Given the description of an element on the screen output the (x, y) to click on. 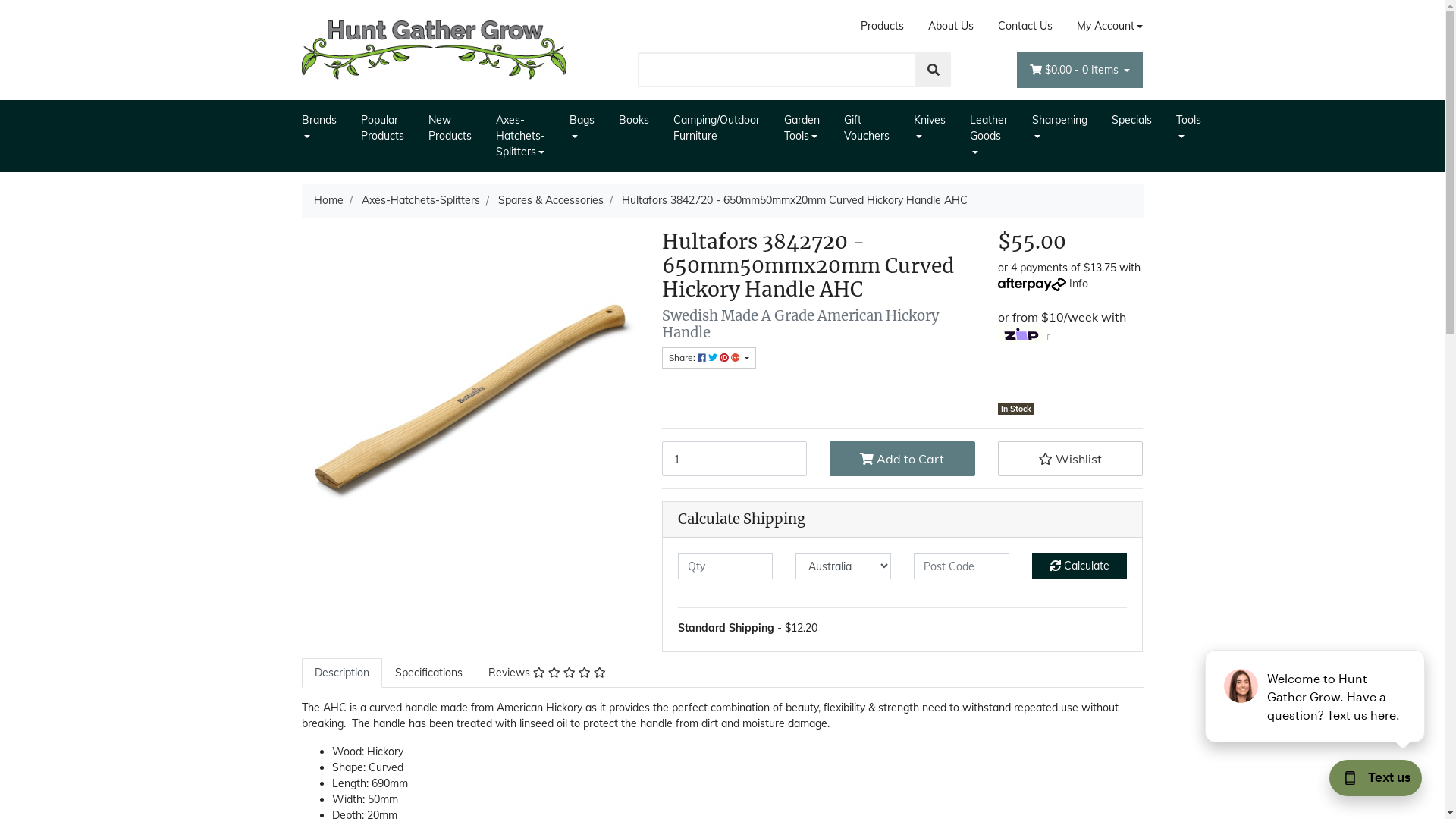
Hunt Gather Grow Element type: hover (434, 49)
Books Element type: text (633, 120)
Wishlist Element type: text (1070, 458)
Info Element type: text (1078, 282)
Axes-Hatchets-Splitters Element type: text (419, 200)
Specifications Element type: text (428, 672)
About Us Element type: text (950, 26)
Bags Element type: text (580, 128)
Search Element type: text (933, 69)
Home Element type: text (328, 200)
podium webchat widget prompt Element type: hover (1315, 696)
Brands Element type: text (324, 128)
Garden Tools Element type: text (801, 128)
Contact Us Element type: text (1024, 26)
New Products Element type: text (449, 128)
Sharpening Element type: text (1058, 128)
Tools Element type: text (1187, 128)
Gift Vouchers Element type: text (865, 128)
Product main image Element type: hover (470, 398)
Popular Products Element type: text (382, 128)
Products Element type: text (882, 26)
Share: Element type: text (708, 357)
Camping/Outdoor Furniture Element type: text (716, 128)
Axes-Hatchets-Splitters Element type: text (520, 136)
My Account Element type: text (1103, 26)
Description Element type: text (341, 672)
Specials Element type: text (1131, 120)
Leather Goods Element type: text (988, 136)
Spares & Accessories Element type: text (549, 200)
Hultafors 3842720 - 650mm50mmx20mm Curved Hickory Handle AHC Element type: text (794, 200)
Add to Cart Element type: text (902, 458)
Reviews Element type: text (546, 672)
$0.00 - 0 Items Element type: text (1079, 69)
Calculate Element type: text (1079, 565)
Knives Element type: text (928, 128)
